Given the description of an element on the screen output the (x, y) to click on. 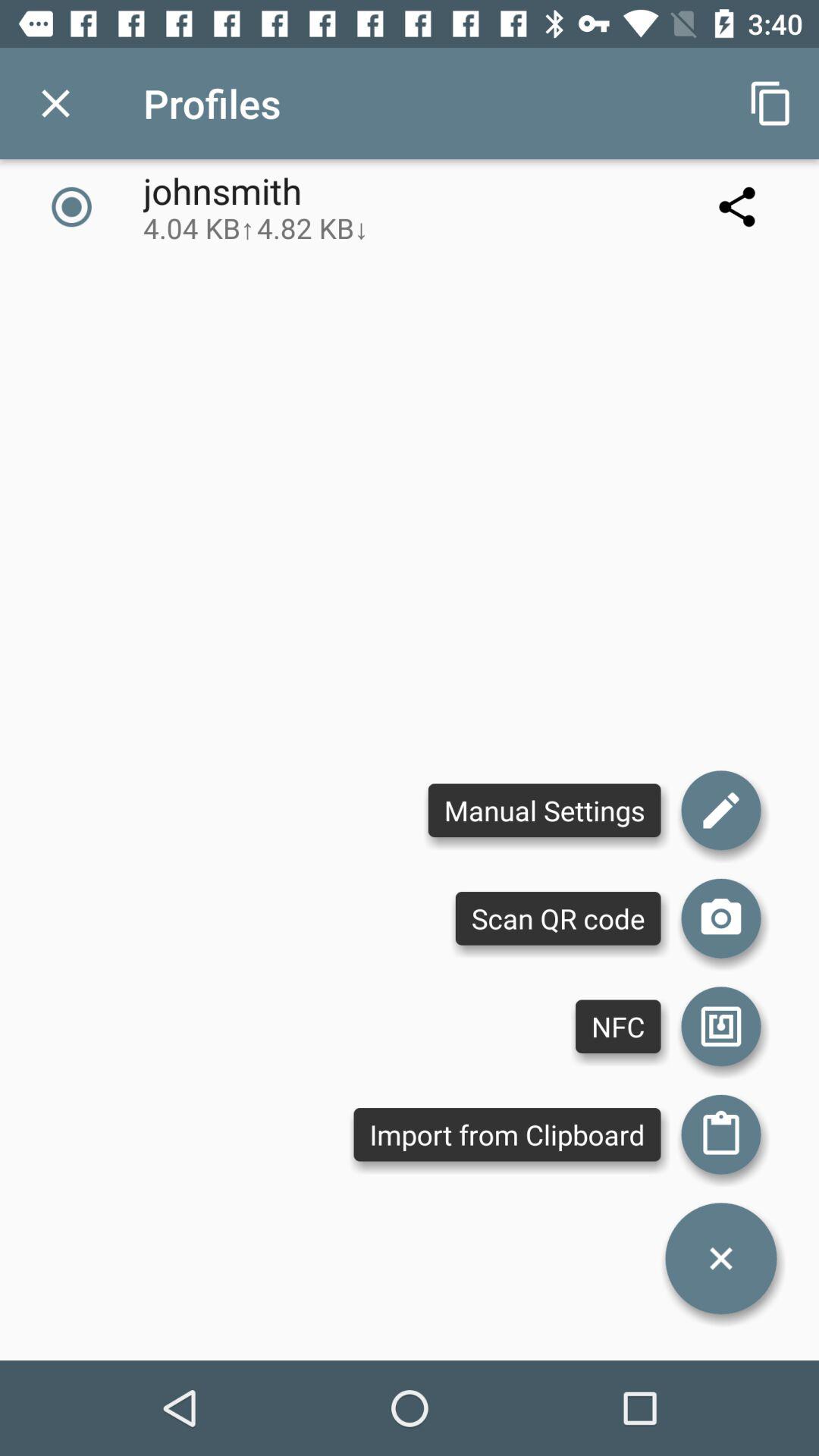
close profiles (55, 103)
